Given the description of an element on the screen output the (x, y) to click on. 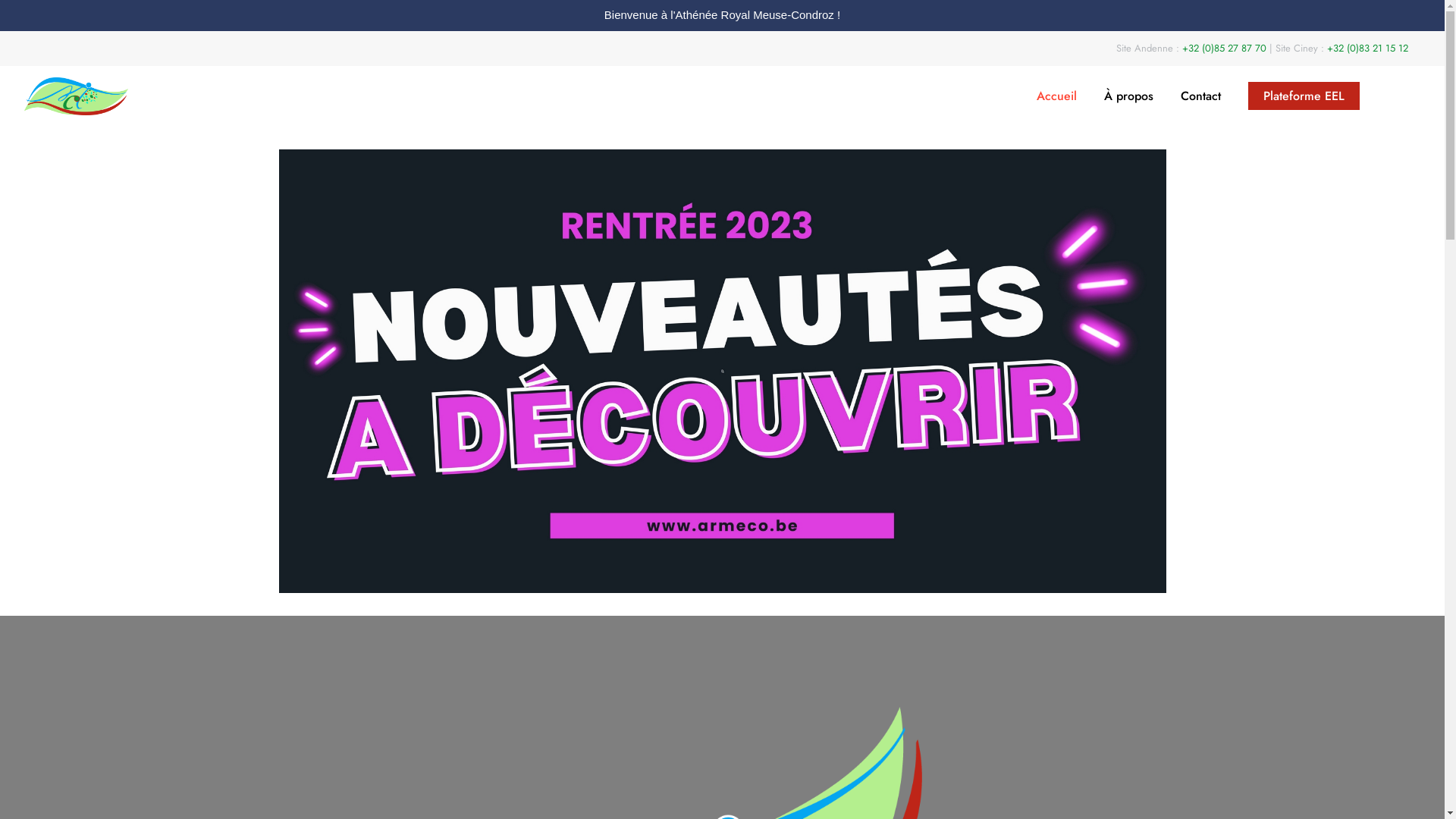
Plateforme EEL Element type: text (1303, 95)
Accueil Element type: text (1056, 95)
+32 (0)83 21 15 12 Element type: text (1367, 47)
+32 (0)85 27 87 70 Element type: text (1225, 47)
Contact Element type: text (1200, 95)
